Given the description of an element on the screen output the (x, y) to click on. 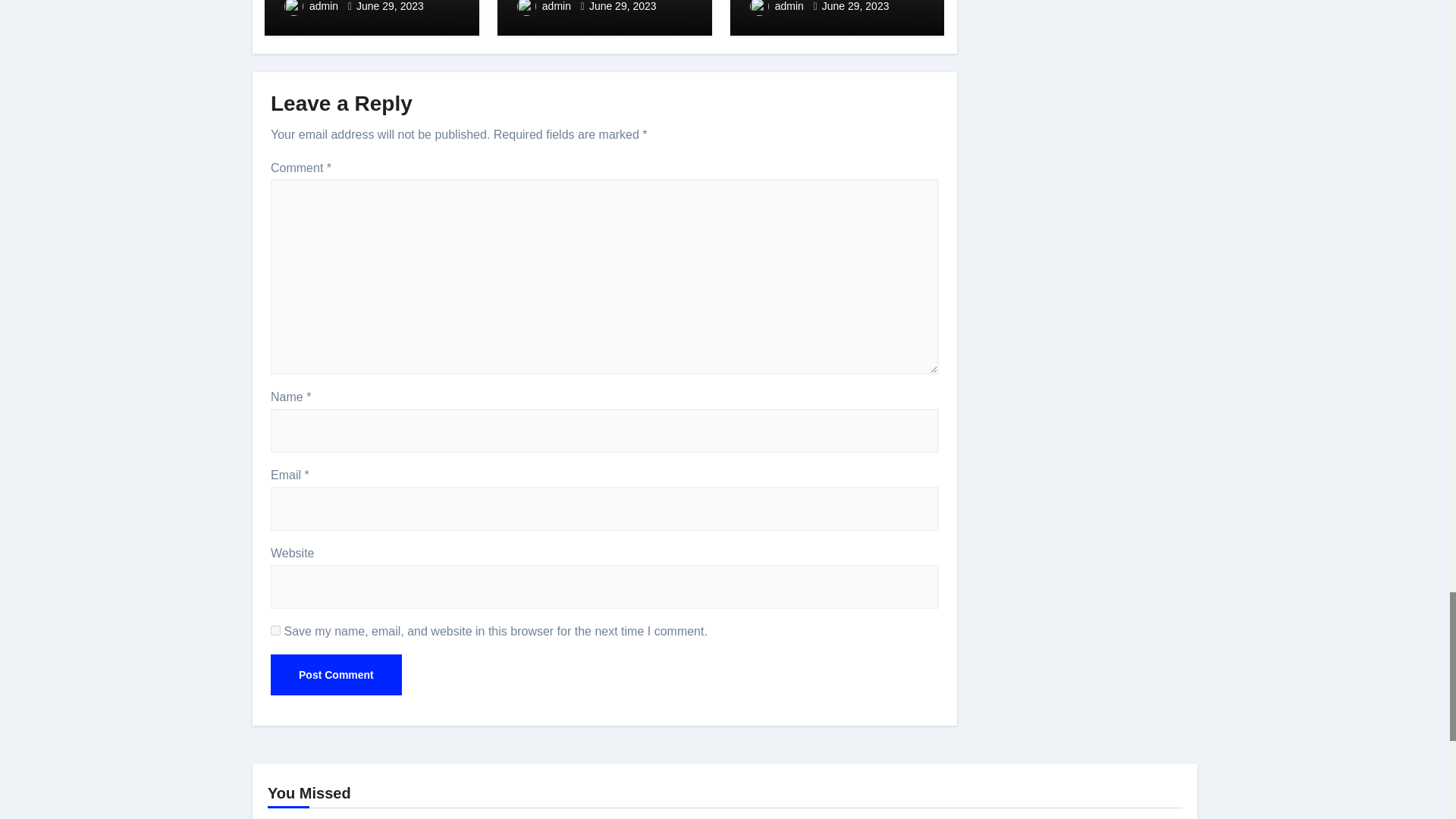
yes (275, 630)
Post Comment (335, 674)
